Given the description of an element on the screen output the (x, y) to click on. 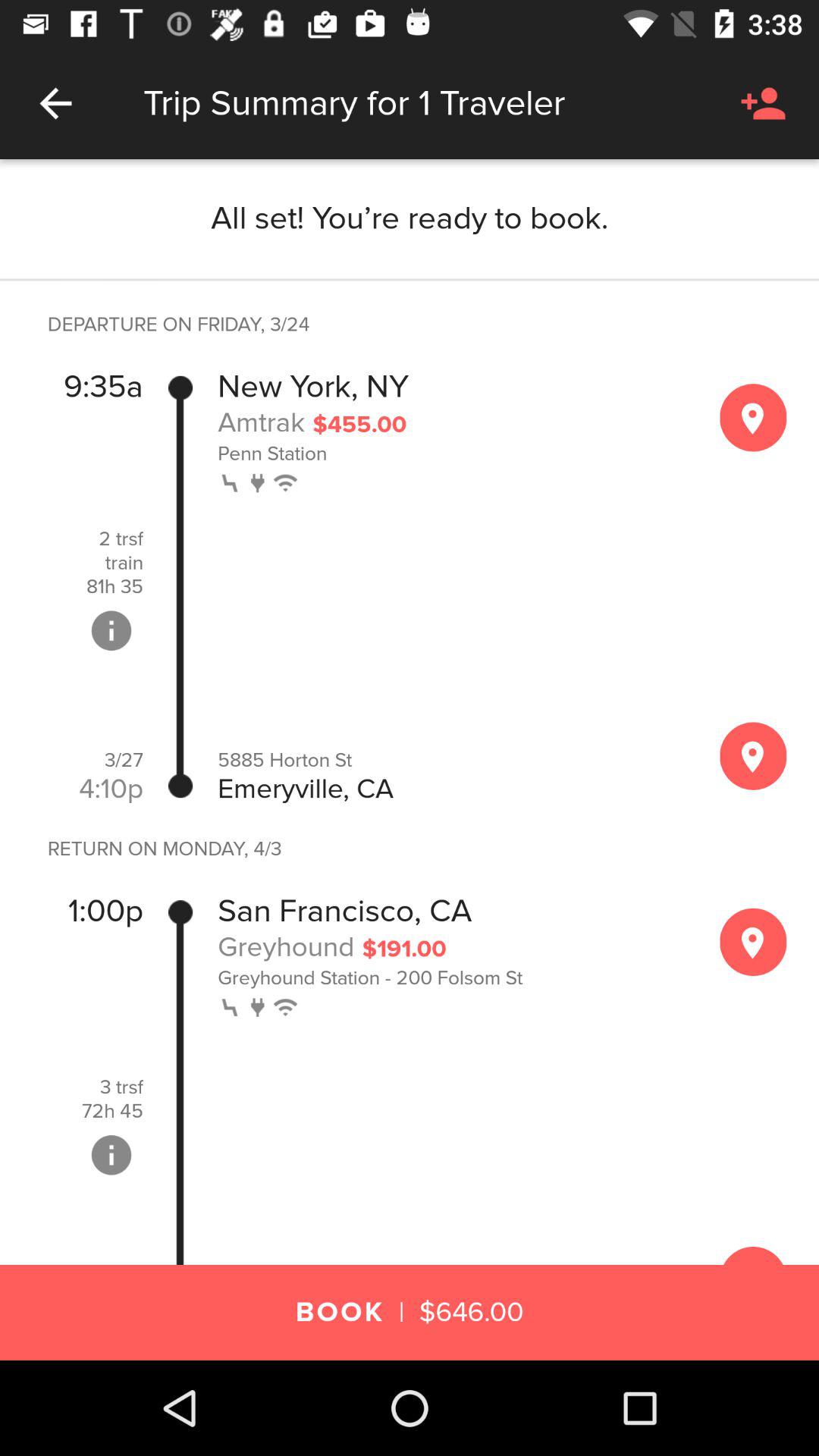
click the 1:00p (105, 911)
